Given the description of an element on the screen output the (x, y) to click on. 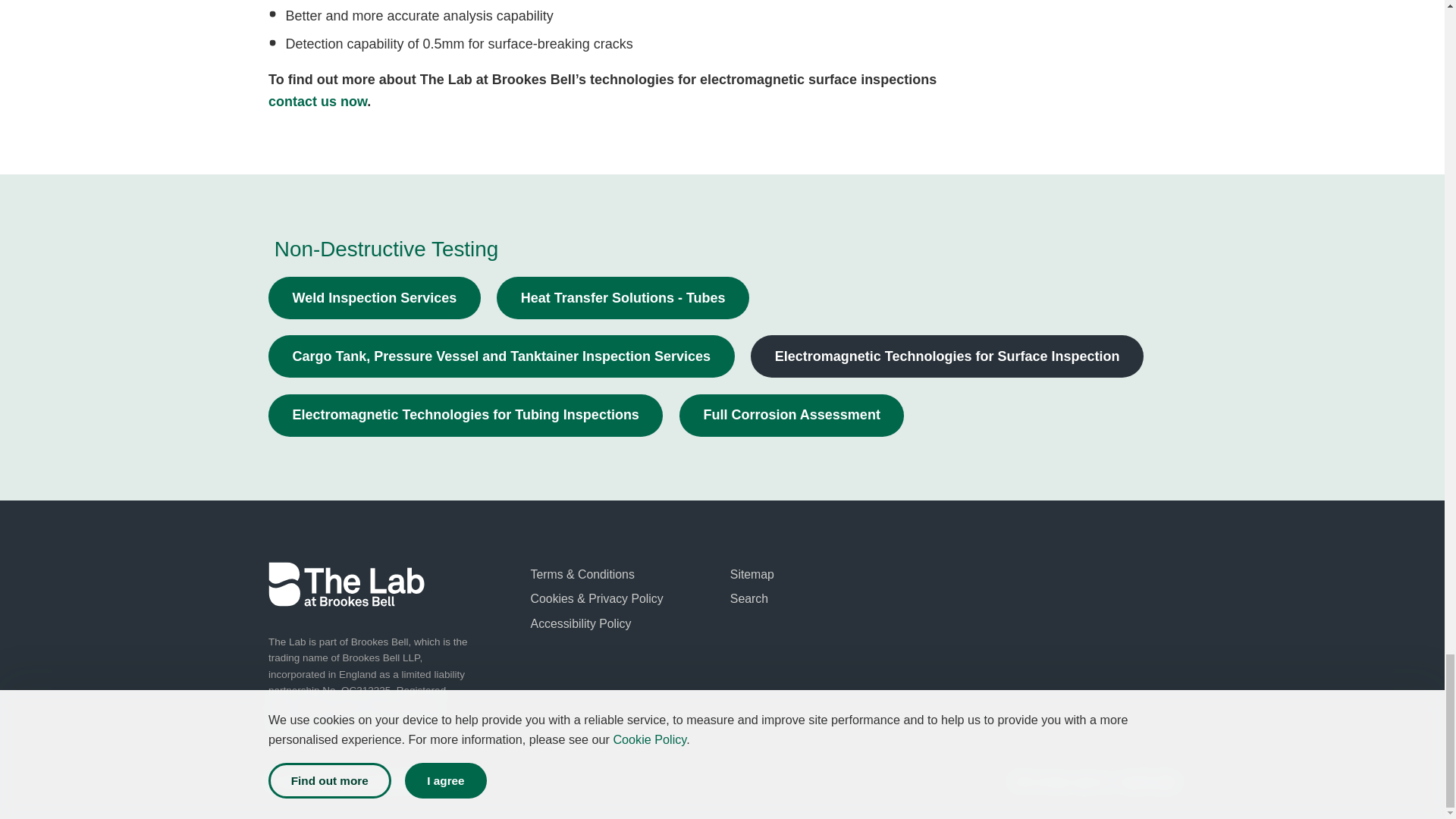
Weld Inspection Services (373, 297)
Non-Destructive Testing (387, 249)
contact us now (316, 101)
